Given the description of an element on the screen output the (x, y) to click on. 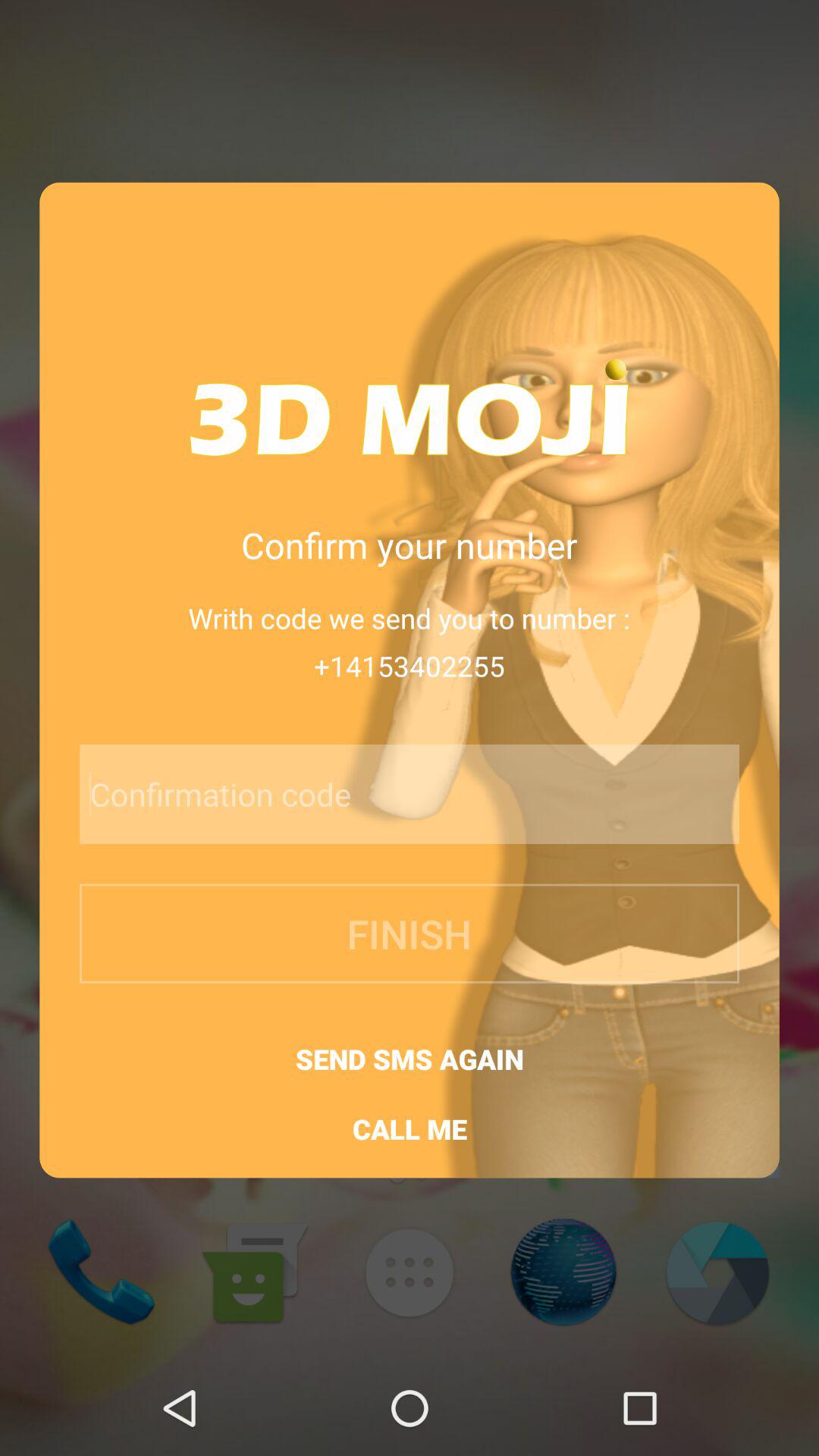
confirmate a code (369, 794)
